Given the description of an element on the screen output the (x, y) to click on. 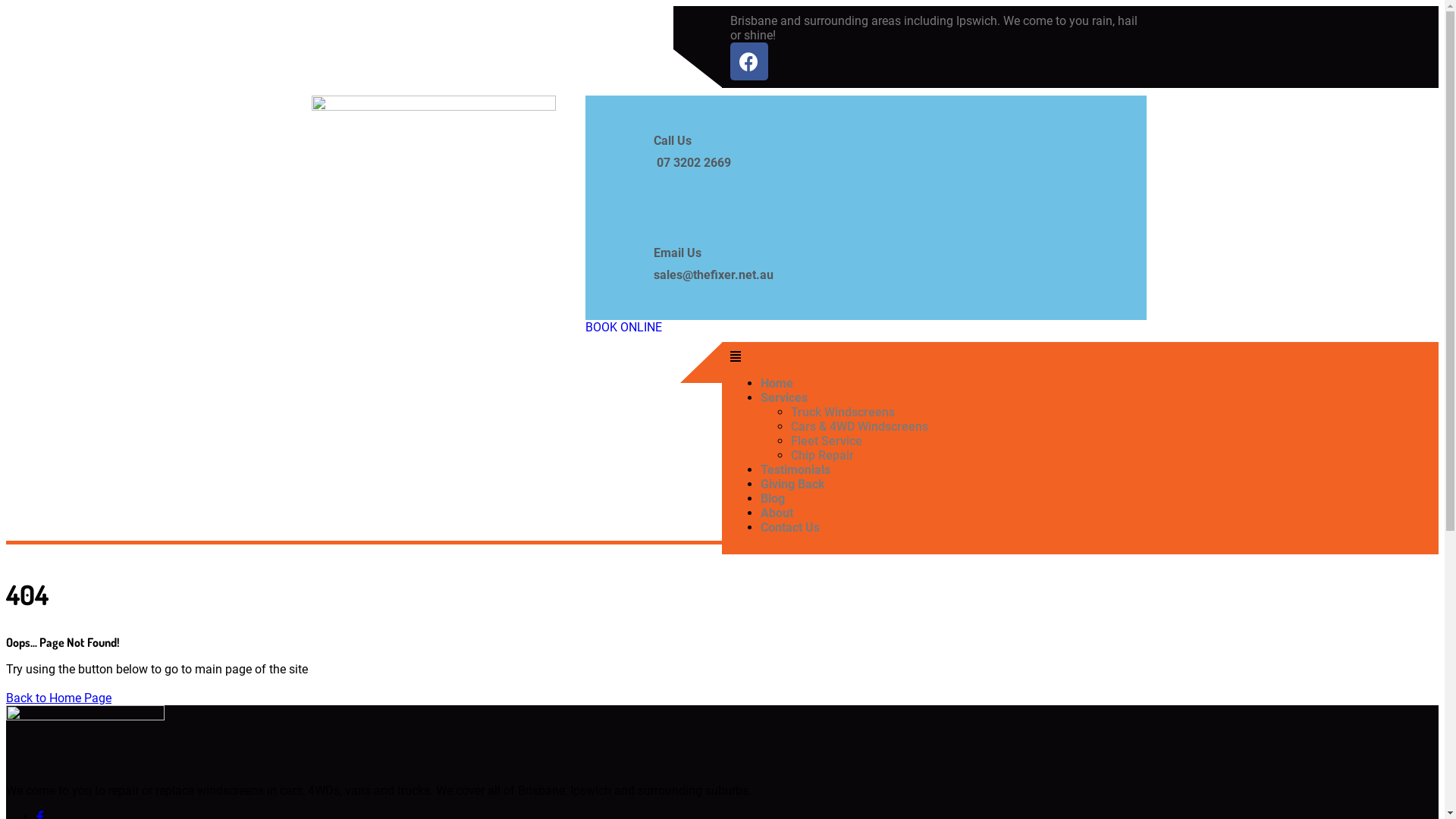
Cars & 4WD Windscreens Element type: text (858, 426)
Truck Windscreens Element type: text (842, 411)
Back to Home Page Element type: text (58, 697)
Fleet Service Element type: text (825, 440)
Chip Repair Element type: text (821, 455)
About Element type: text (775, 512)
Services Element type: text (782, 397)
Blog Element type: text (771, 498)
Home Element type: text (775, 383)
Giving Back Element type: text (791, 483)
Testimonials Element type: text (794, 469)
BOOK ONLINE Element type: text (623, 327)
Contact Us Element type: text (789, 527)
